Given the description of an element on the screen output the (x, y) to click on. 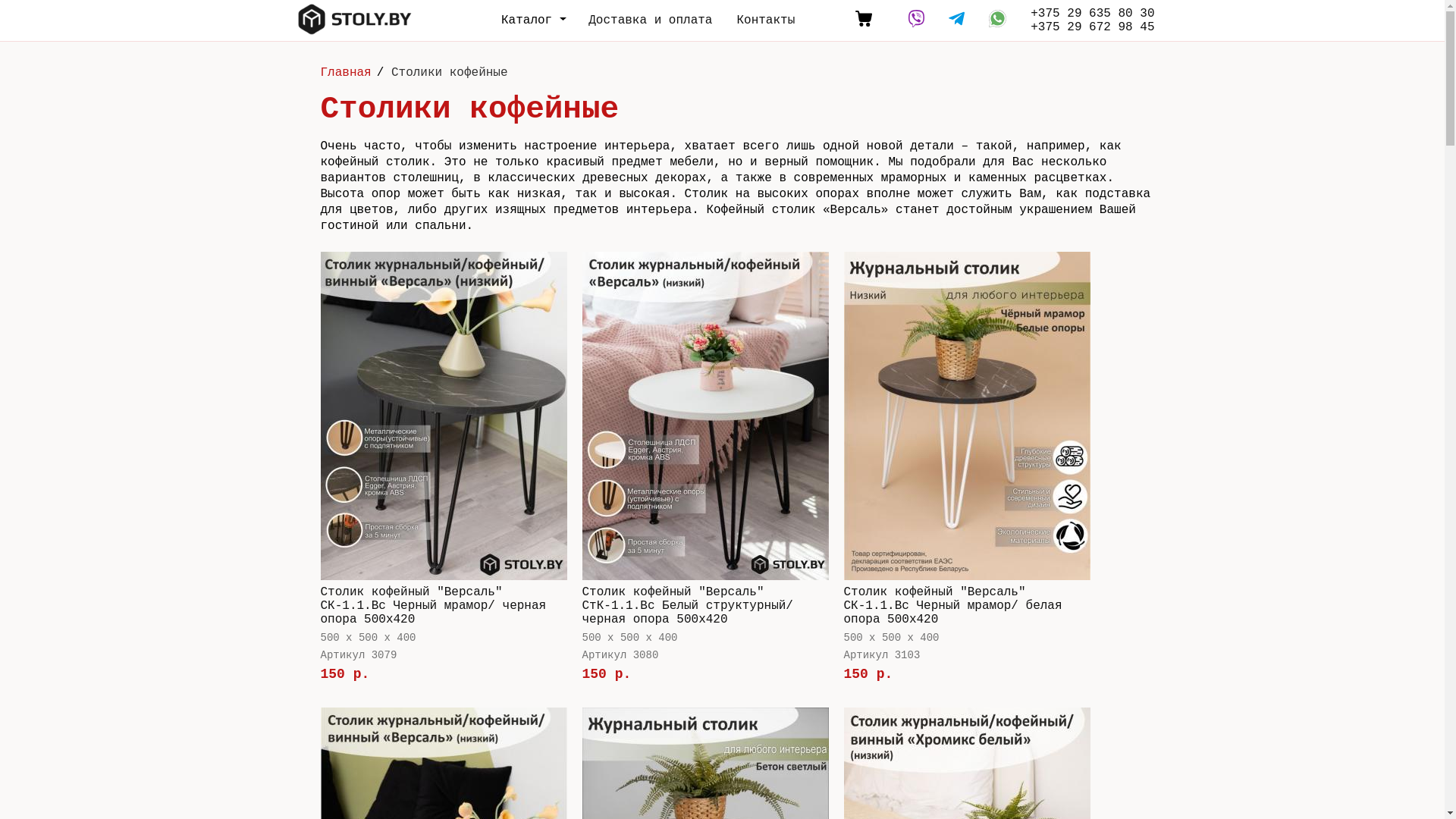
+375 29 635 80 30 Element type: text (1092, 13)
+375 29 672 98 45 Element type: text (1092, 27)
